Given the description of an element on the screen output the (x, y) to click on. 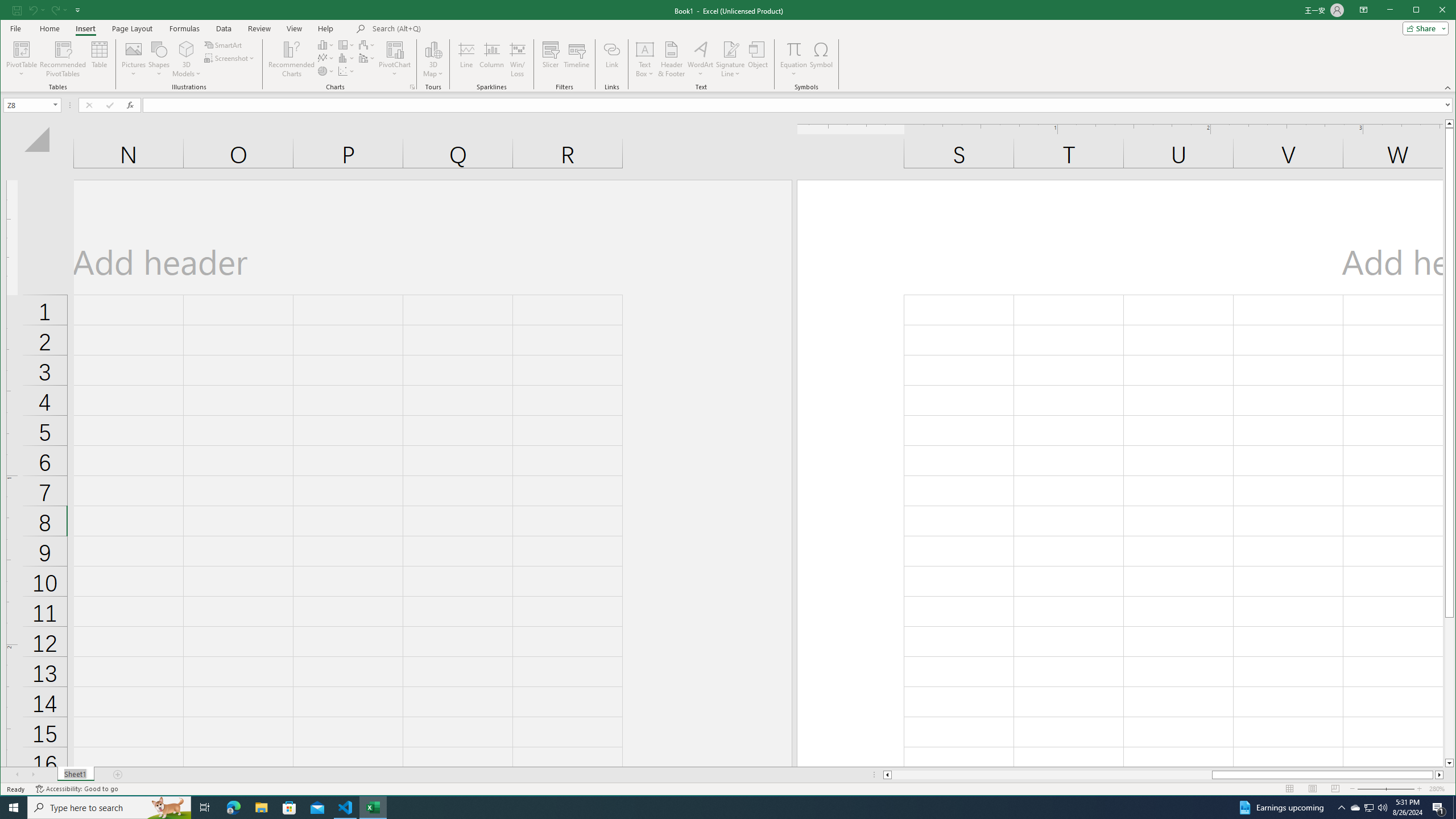
Insert Statistic Chart (1355, 807)
Earnings upcoming (346, 57)
Signature Line (1280, 807)
Signature Line (729, 59)
Insert Scatter (X, Y) or Bubble Chart (729, 48)
Type here to search (346, 70)
Insert Pie or Doughnut Chart (108, 807)
Symbol... (325, 70)
Link (821, 59)
